Given the description of an element on the screen output the (x, y) to click on. 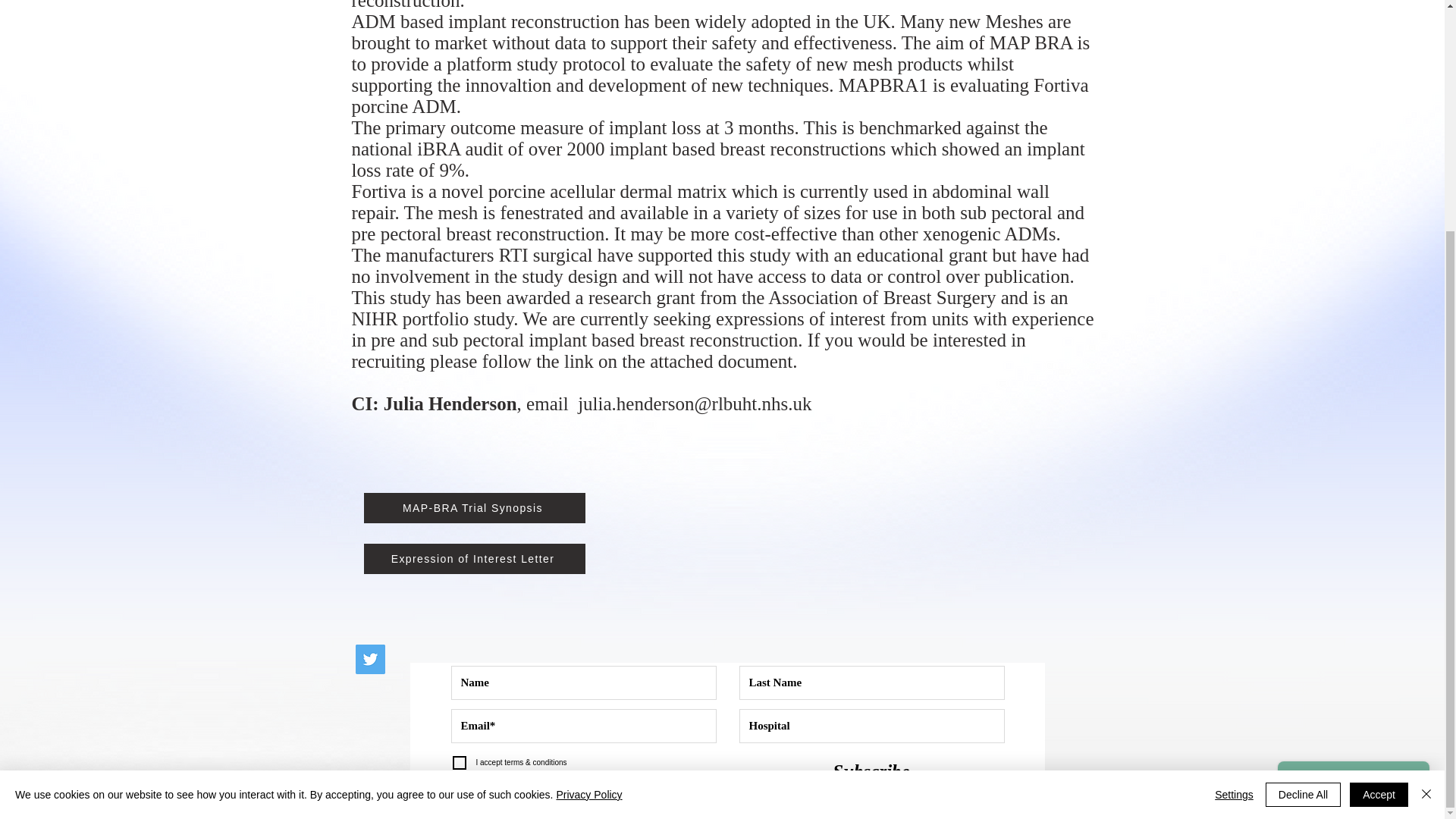
Subscribe (871, 770)
Privacy Policy (588, 481)
Decline All (1302, 482)
Accept (1378, 482)
MAP-BRA Trial Synopsis (474, 508)
Expression of Interest Letter (474, 558)
